Given the description of an element on the screen output the (x, y) to click on. 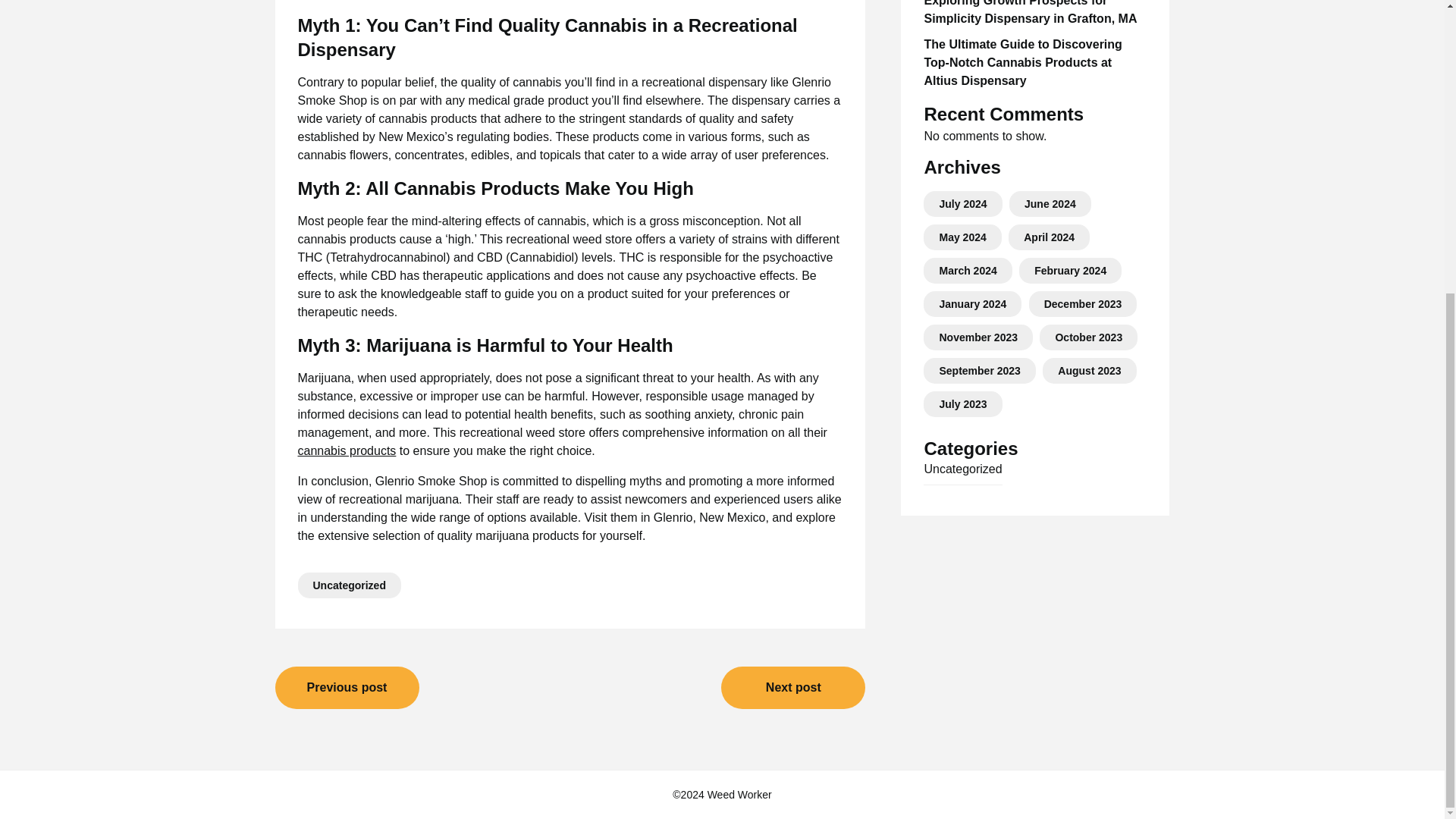
June 2024 (1050, 203)
March 2024 (967, 270)
Uncategorized (962, 468)
December 2023 (1082, 304)
May 2024 (962, 236)
February 2024 (1069, 270)
September 2023 (979, 370)
January 2024 (972, 304)
July 2024 (963, 203)
November 2023 (978, 337)
Uncategorized (348, 585)
August 2023 (1089, 370)
April 2024 (1048, 236)
